Given the description of an element on the screen output the (x, y) to click on. 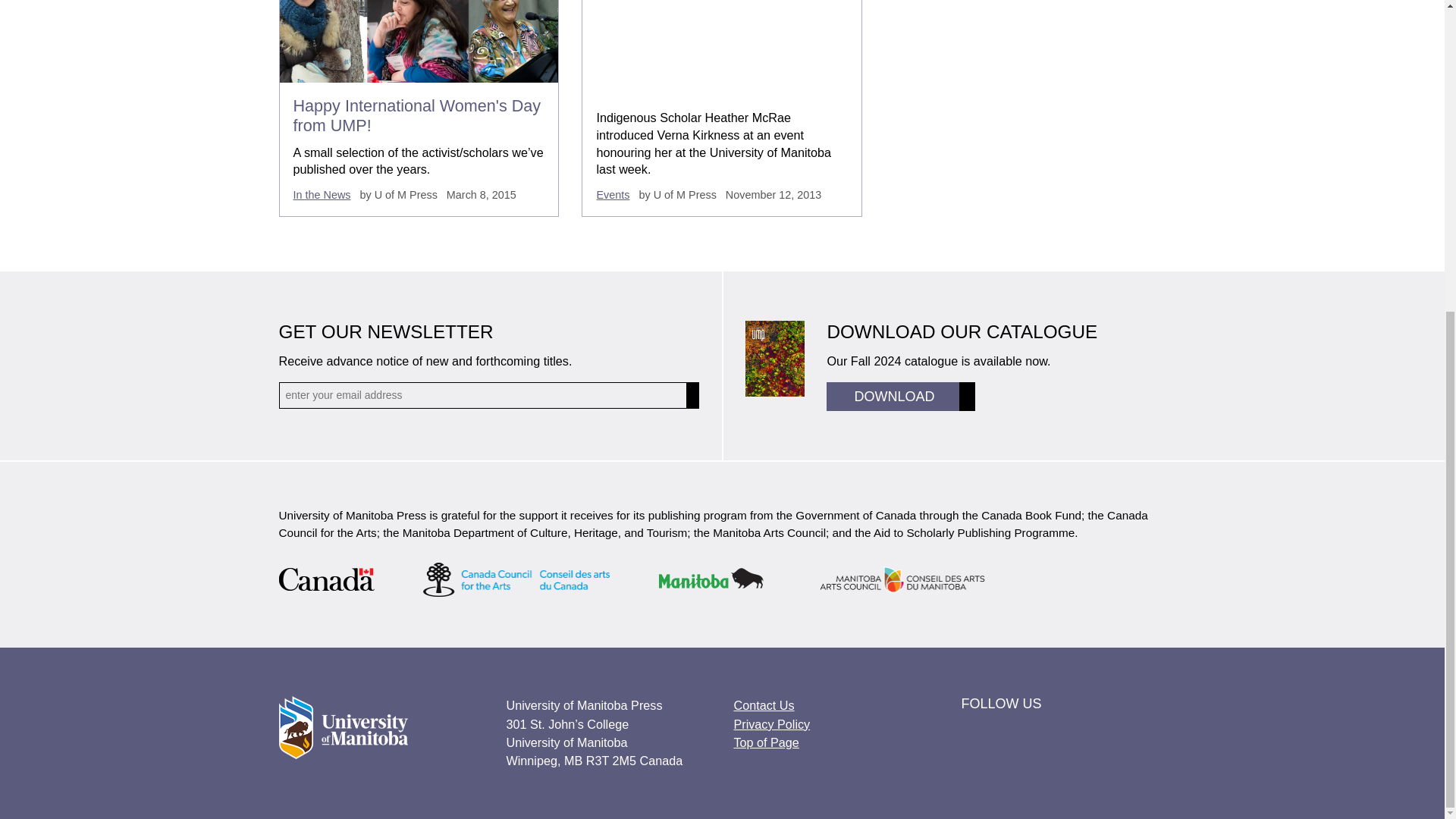
Events (611, 194)
DOWNLOAD (901, 396)
Contact Us (763, 704)
Top of Page (765, 742)
In the News (321, 194)
Privacy Policy (771, 724)
